Given the description of an element on the screen output the (x, y) to click on. 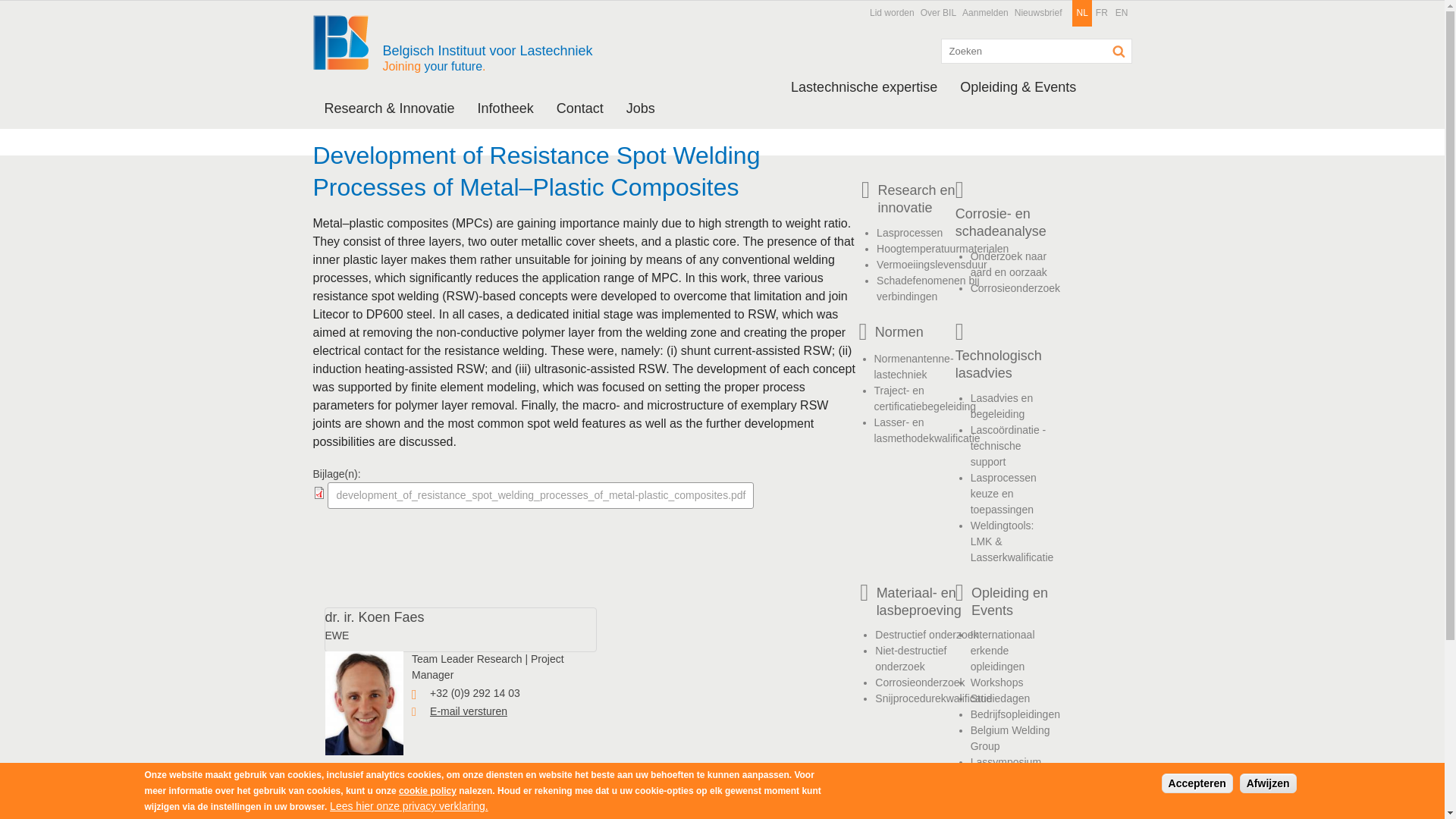
Research en innovatie (943, 199)
Infotheek (504, 108)
Nieuwsbrief (1038, 13)
Geef de woorden op waarnaar u wilt zoeken. (1035, 50)
Corrosieonderzoek (1015, 287)
FR (1102, 13)
Zoeken (1118, 51)
Corrosie- en schadeanalyse (1007, 222)
Aanmelden (985, 13)
Schadefenomenen bij verbindingen (927, 288)
Home (345, 37)
Onderzoek naar aard en oorzaak (1008, 264)
Contact (579, 108)
Lasprocessen (909, 232)
